Given the description of an element on the screen output the (x, y) to click on. 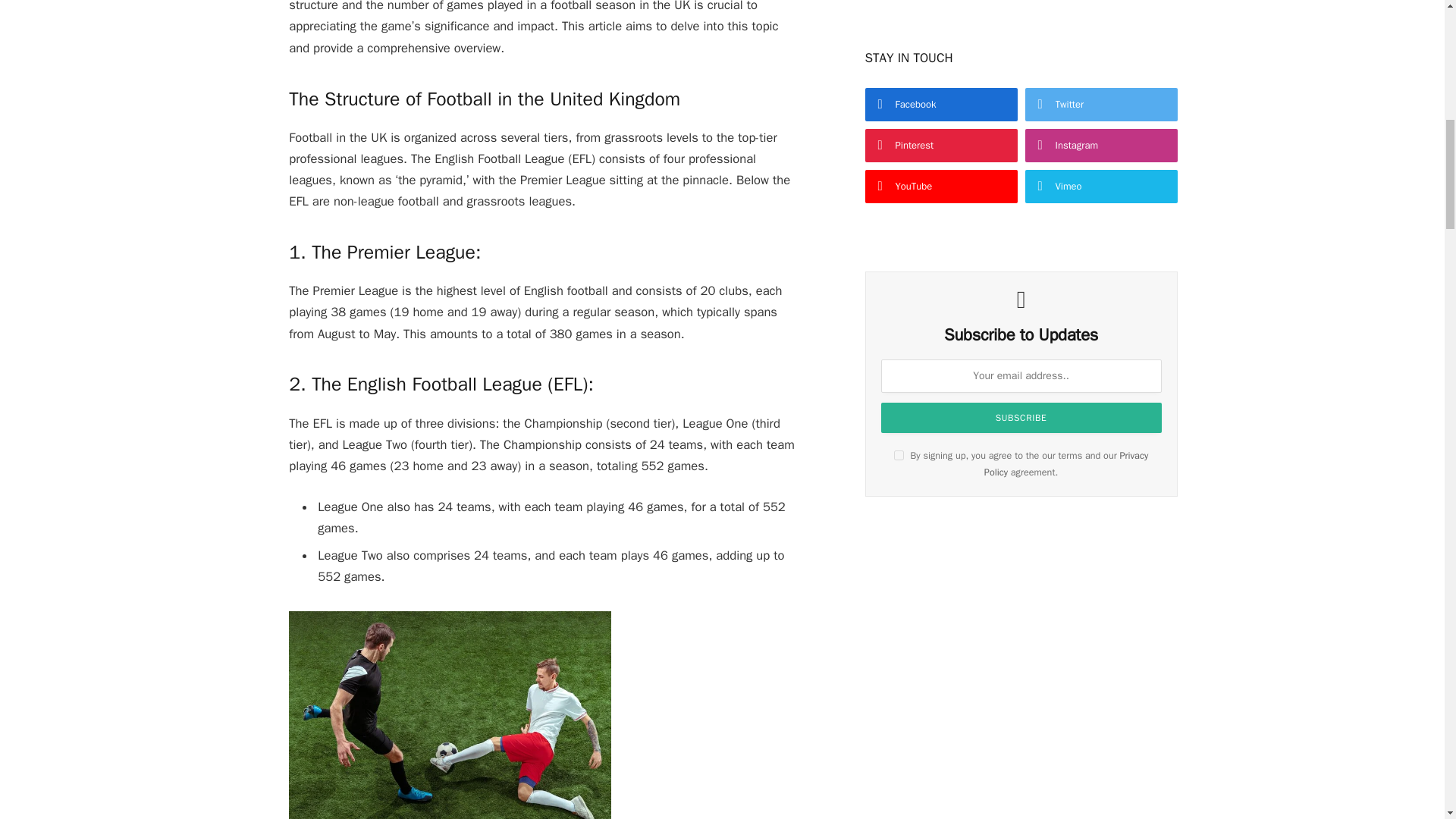
on (898, 455)
Subscribe (1020, 417)
